Given the description of an element on the screen output the (x, y) to click on. 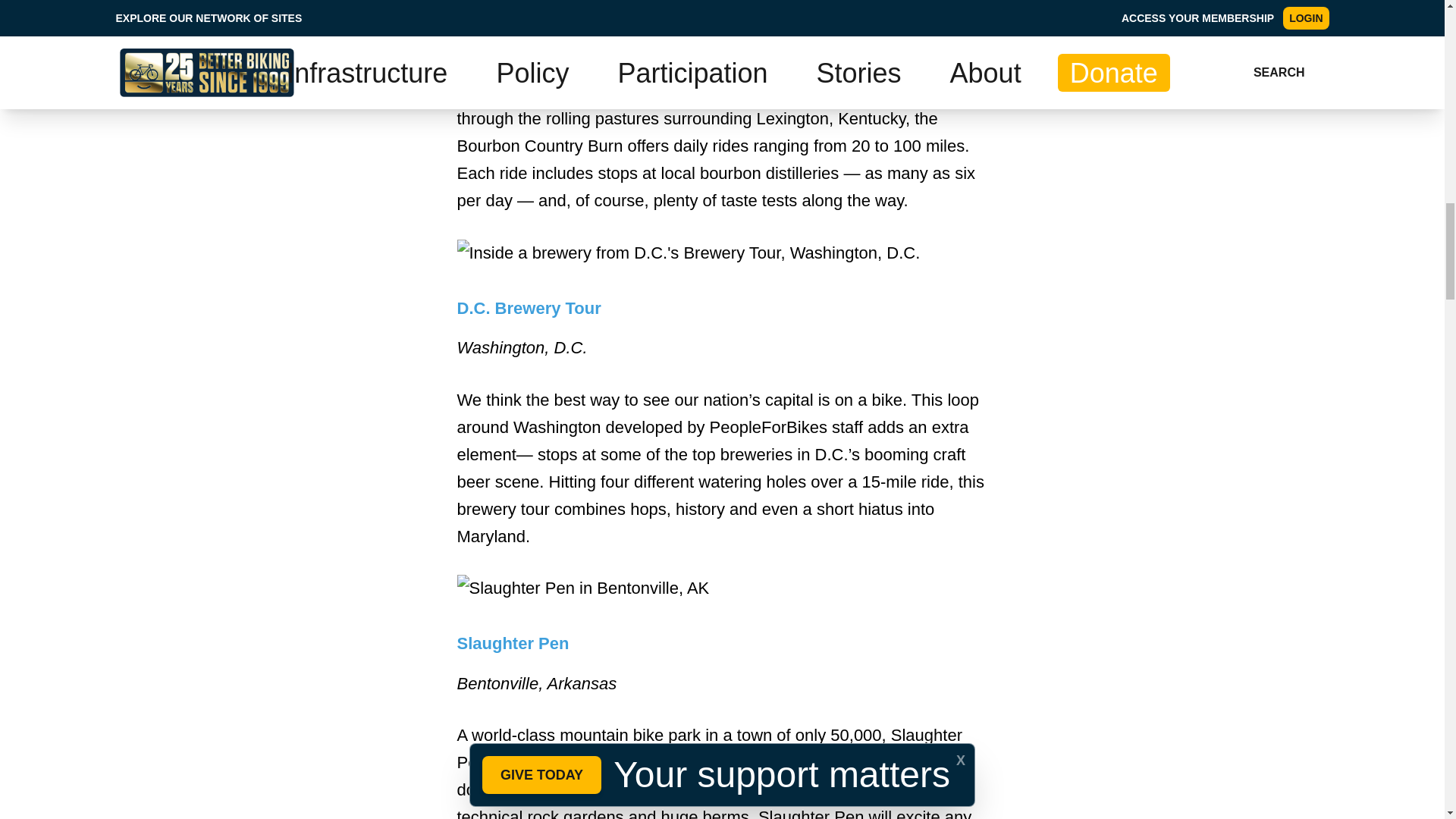
D.C. Brewery Tour (528, 307)
Slaughter Pen (513, 642)
